Given the description of an element on the screen output the (x, y) to click on. 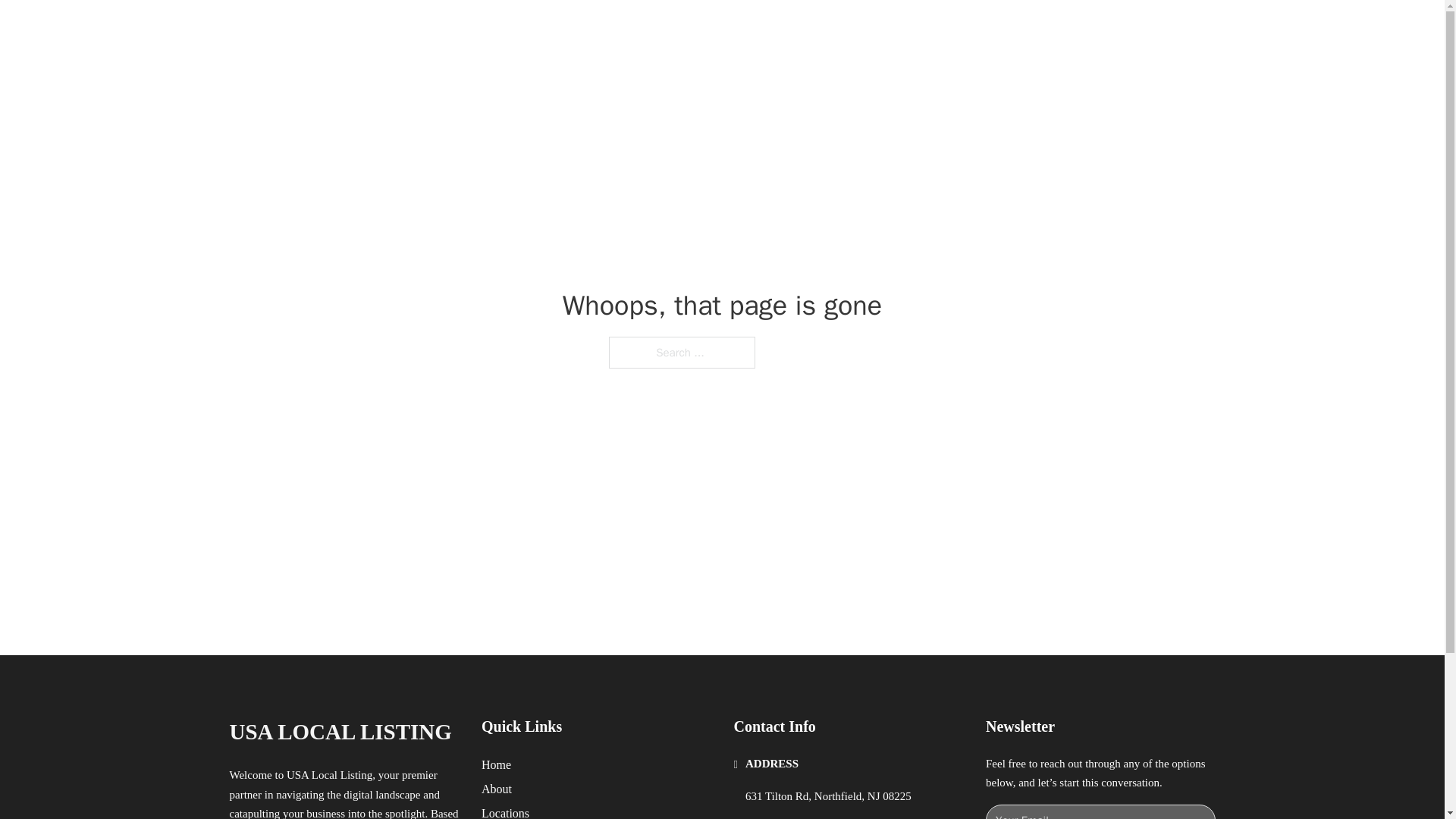
USA LOCAL LISTING (408, 28)
HOME (907, 29)
About (496, 788)
LOCATIONS (978, 29)
Home (496, 764)
USA LOCAL LISTING (339, 732)
Locations (505, 811)
